Given the description of an element on the screen output the (x, y) to click on. 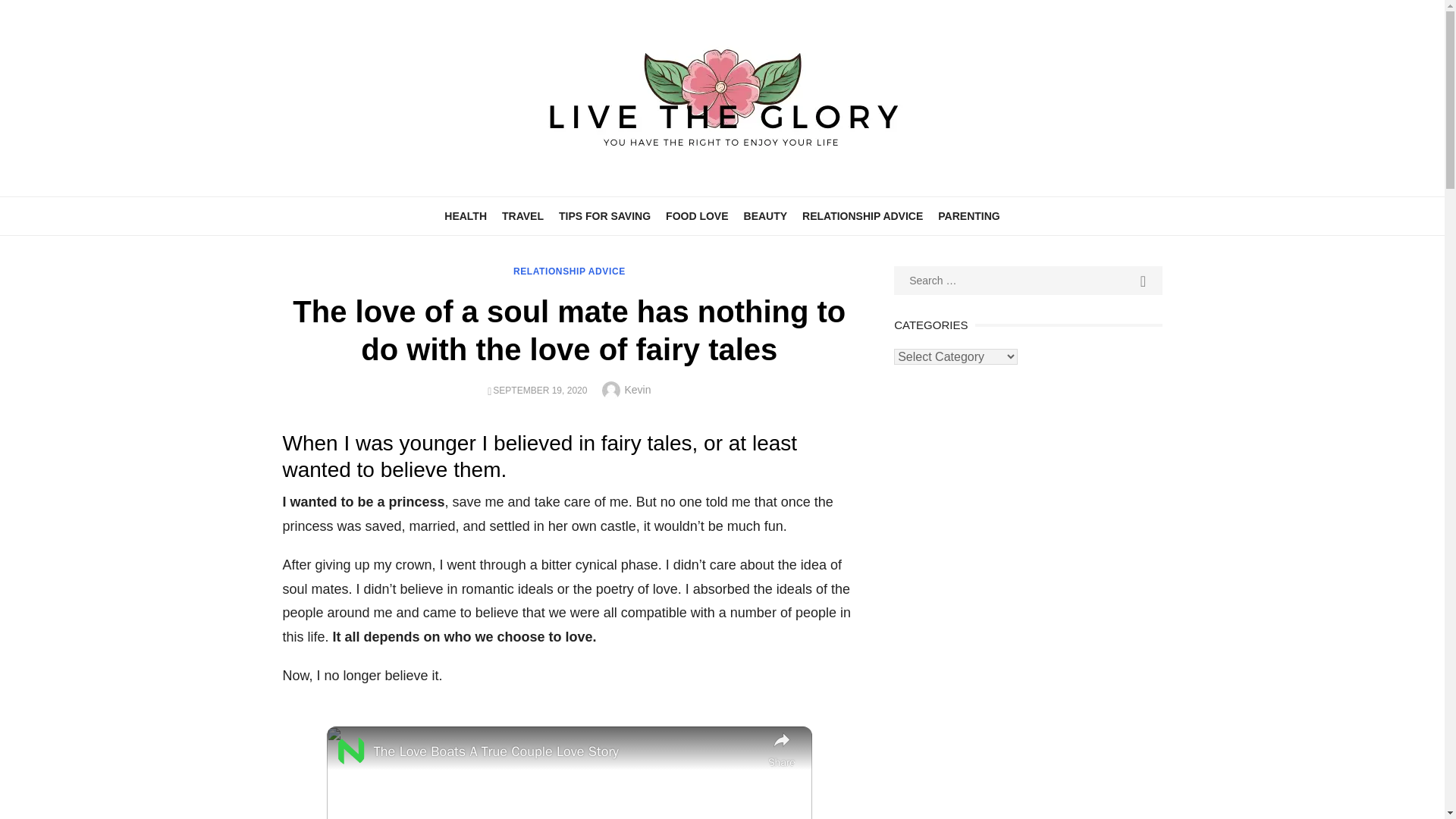
TIPS FOR SAVING (604, 215)
Kevin (637, 389)
HEALTH (465, 215)
The Love Boats A True Couple Love Story (567, 752)
TRAVEL (523, 215)
SEPTEMBER 19, 2020 (539, 389)
BEAUTY (765, 215)
FOOD LOVE (696, 215)
RELATIONSHIP ADVICE (862, 215)
PARENTING (968, 215)
RELATIONSHIP ADVICE (569, 271)
